Given the description of an element on the screen output the (x, y) to click on. 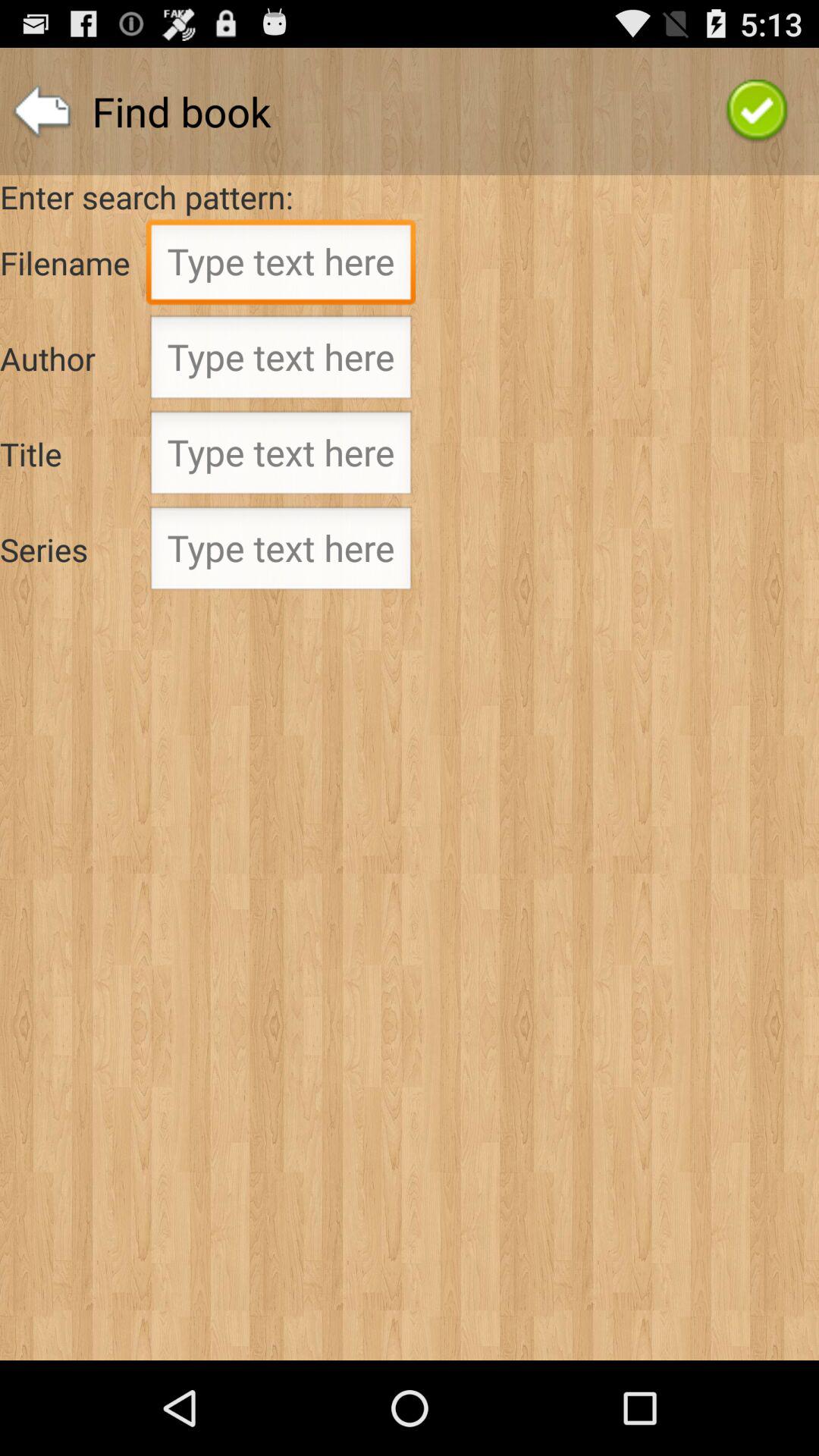
field to enter text (280, 457)
